Given the description of an element on the screen output the (x, y) to click on. 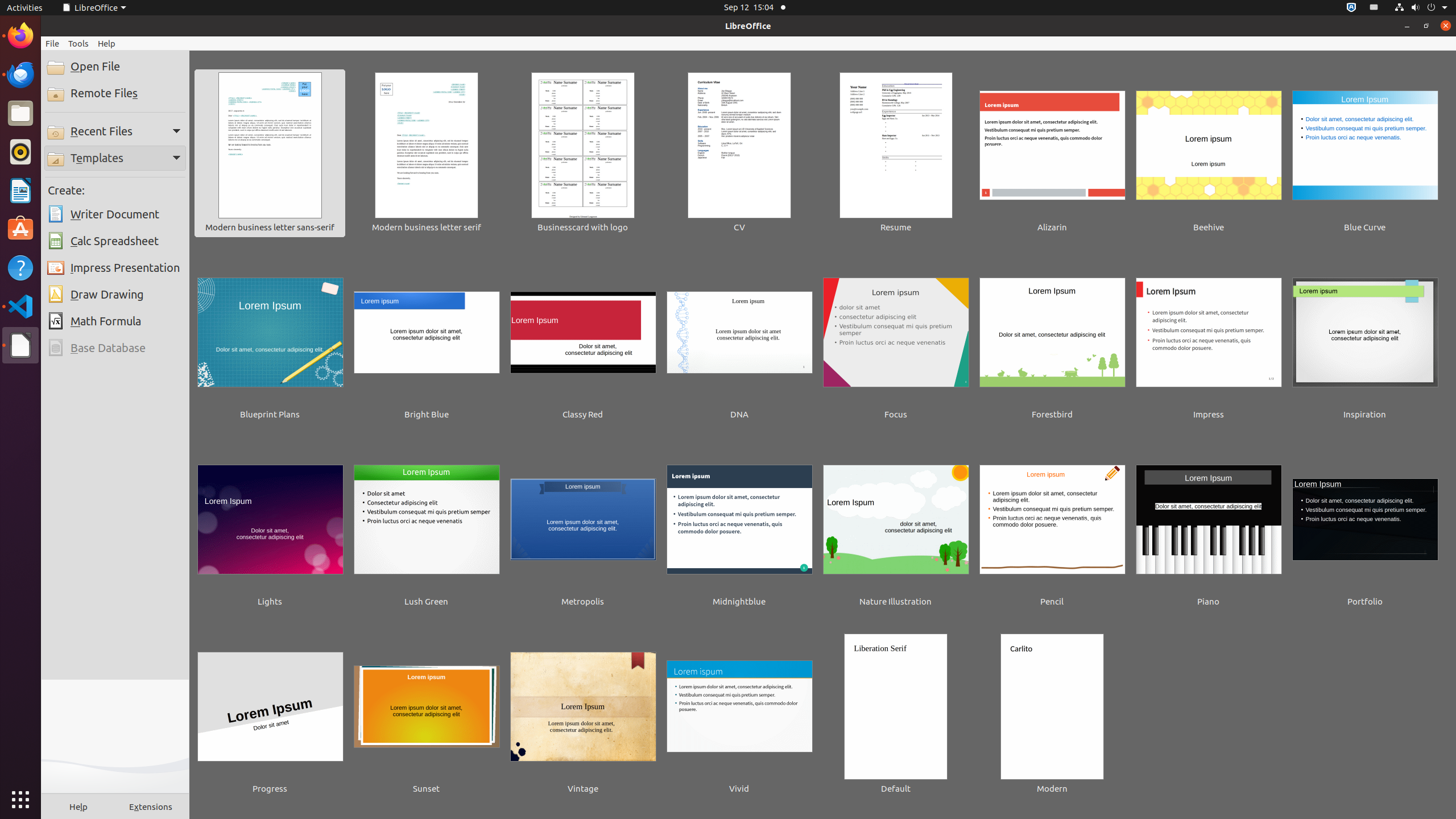
Tools Element type: menu (78, 43)
Bright Blue Element type: list-item (426, 340)
Extensions Element type: push-button (150, 806)
Default Element type: list-item (895, 714)
Blueprint Plans Element type: list-item (269, 340)
